Given the description of an element on the screen output the (x, y) to click on. 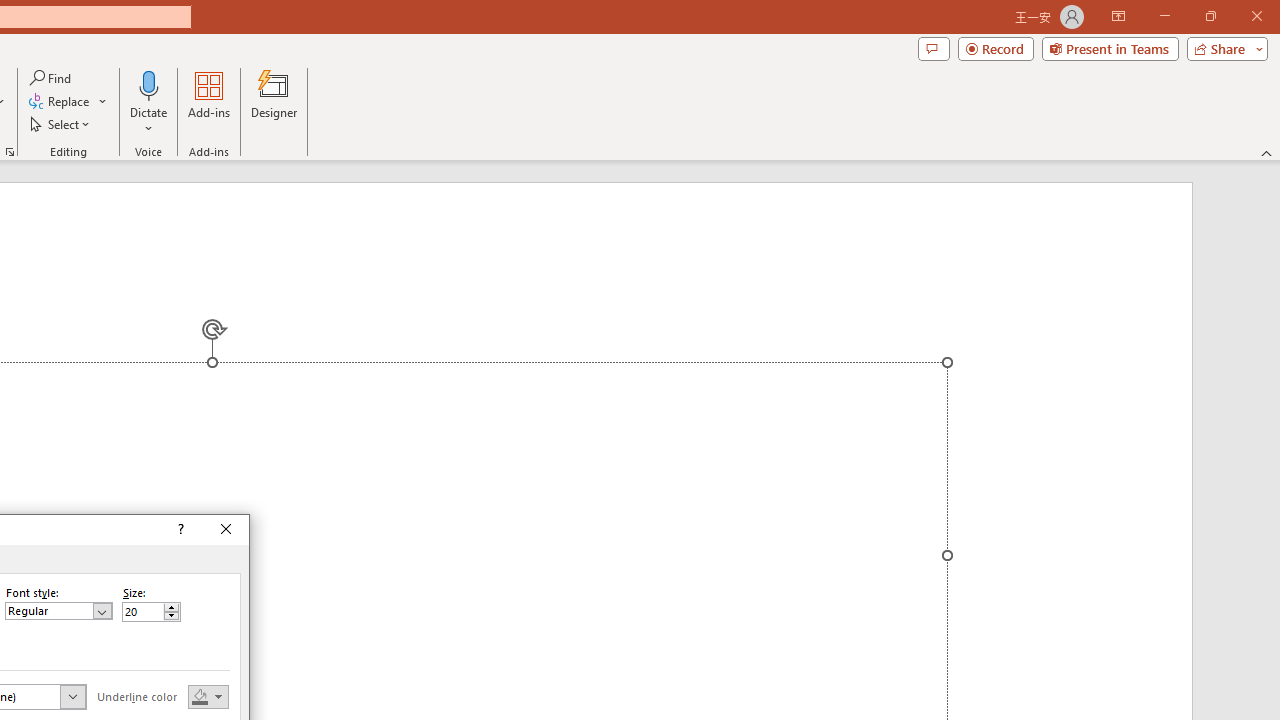
Open (72, 696)
Replace... (68, 101)
Size (150, 611)
Dictate (149, 84)
Font style (58, 610)
Select (61, 124)
Underline color (208, 696)
Replace... (60, 101)
Format Object... (9, 151)
